Given the description of an element on the screen output the (x, y) to click on. 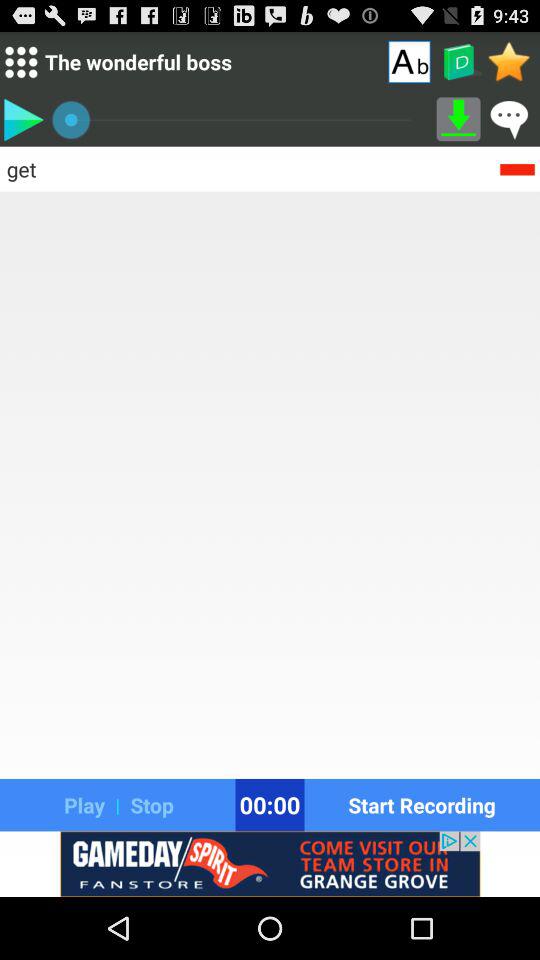
open favorites (509, 61)
